Given the description of an element on the screen output the (x, y) to click on. 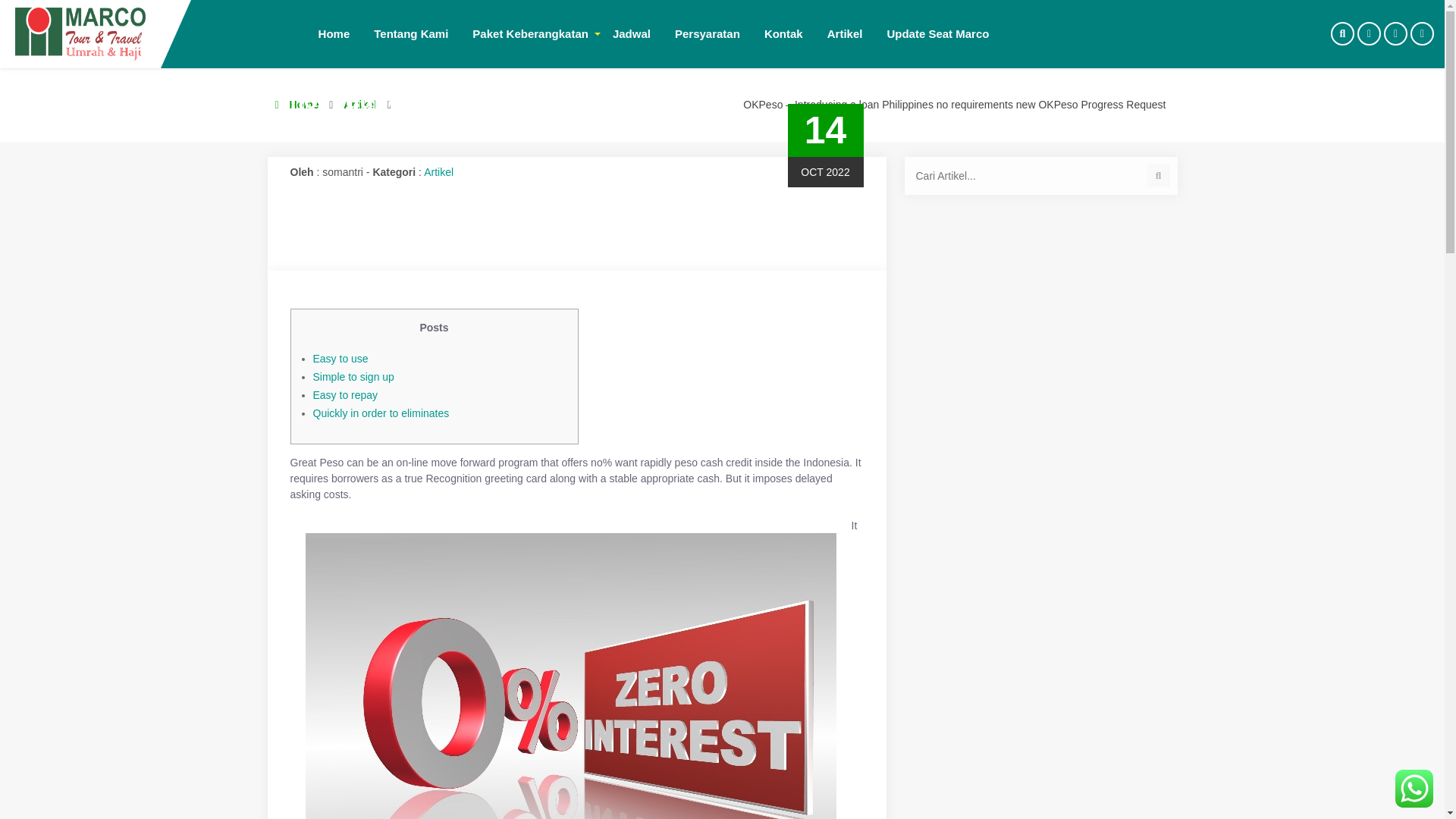
Paket Keberangkatan (529, 33)
Easy to use (340, 358)
Artikel (360, 104)
Jadwal (630, 33)
Easy to repay (345, 395)
Quickly in order to eliminates (380, 413)
Simple to sign up (353, 377)
Artikel (845, 33)
Tentang Kami (410, 33)
Persyaratan (707, 33)
Artikel (437, 172)
Update Seat Marco (938, 33)
Home (333, 33)
Kontak (783, 33)
